Given the description of an element on the screen output the (x, y) to click on. 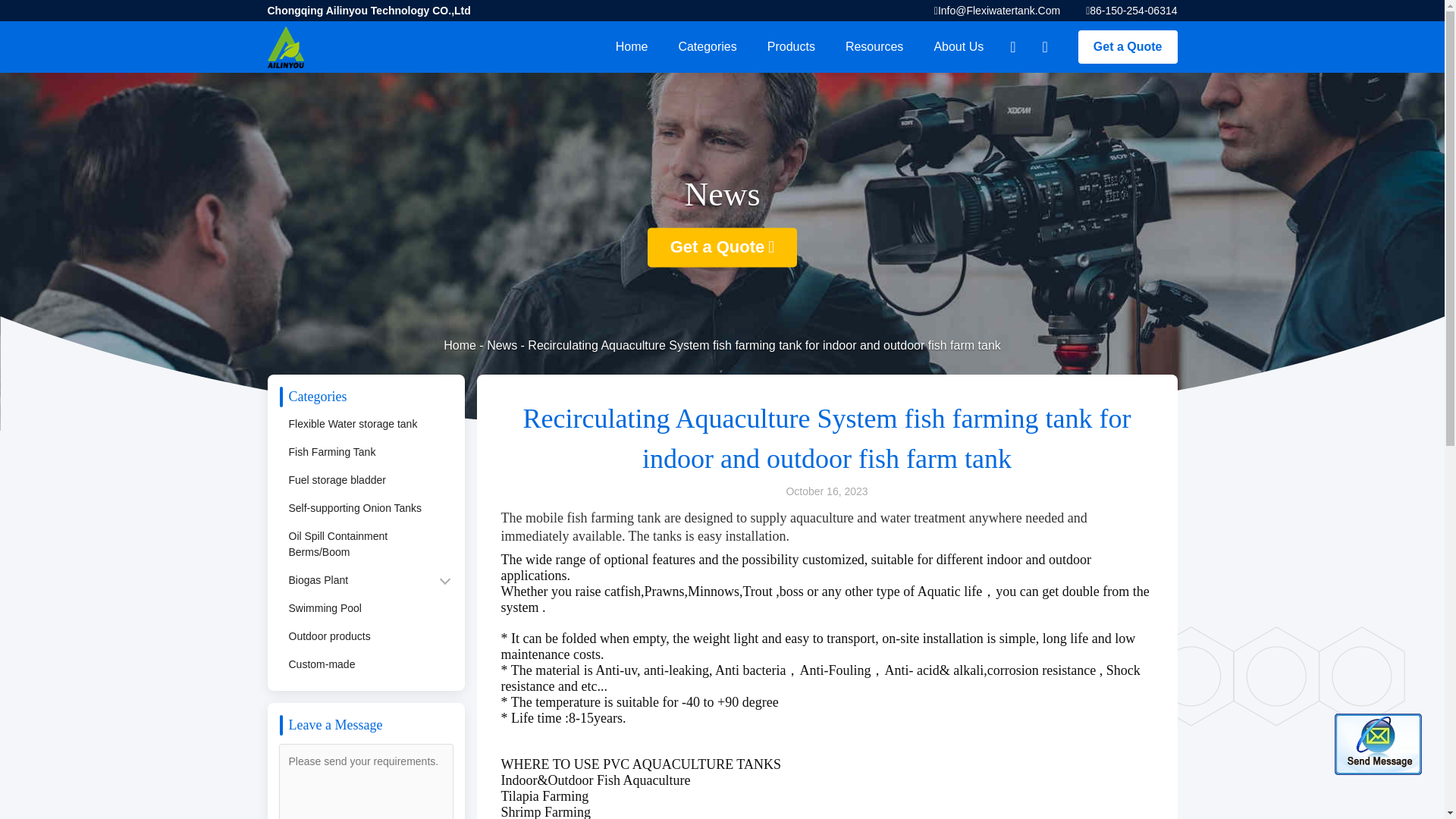
Fish Farming Tank (330, 452)
Home (460, 345)
Self-supporting Onion Tanks (353, 508)
Products (790, 46)
Home (631, 46)
Products (790, 46)
Categories (706, 46)
About Us (958, 46)
Get a Quote (1127, 46)
Get a Quote (722, 247)
Flexible Water storage tank (351, 424)
Categories (706, 46)
Resources (873, 46)
News (501, 345)
Fuel storage bladder (335, 480)
